Given the description of an element on the screen output the (x, y) to click on. 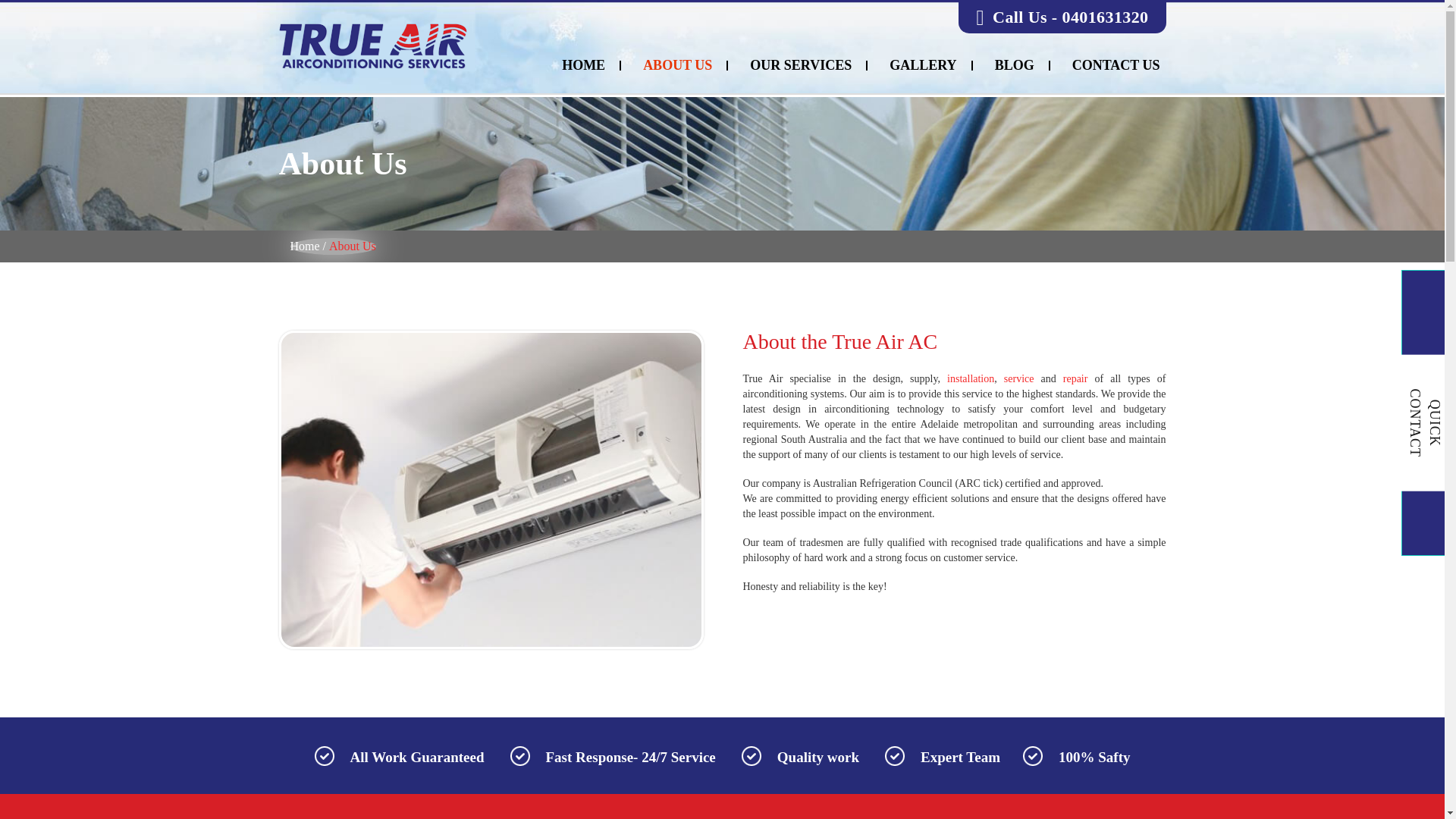
HOME (584, 65)
CONTACT US (1116, 65)
BLOG (1014, 65)
0401631320 (1104, 16)
service (1018, 378)
ABOUT US (678, 65)
GALLERY (923, 65)
OUR SERVICES (801, 65)
installation (970, 378)
repair (1074, 378)
